Given the description of an element on the screen output the (x, y) to click on. 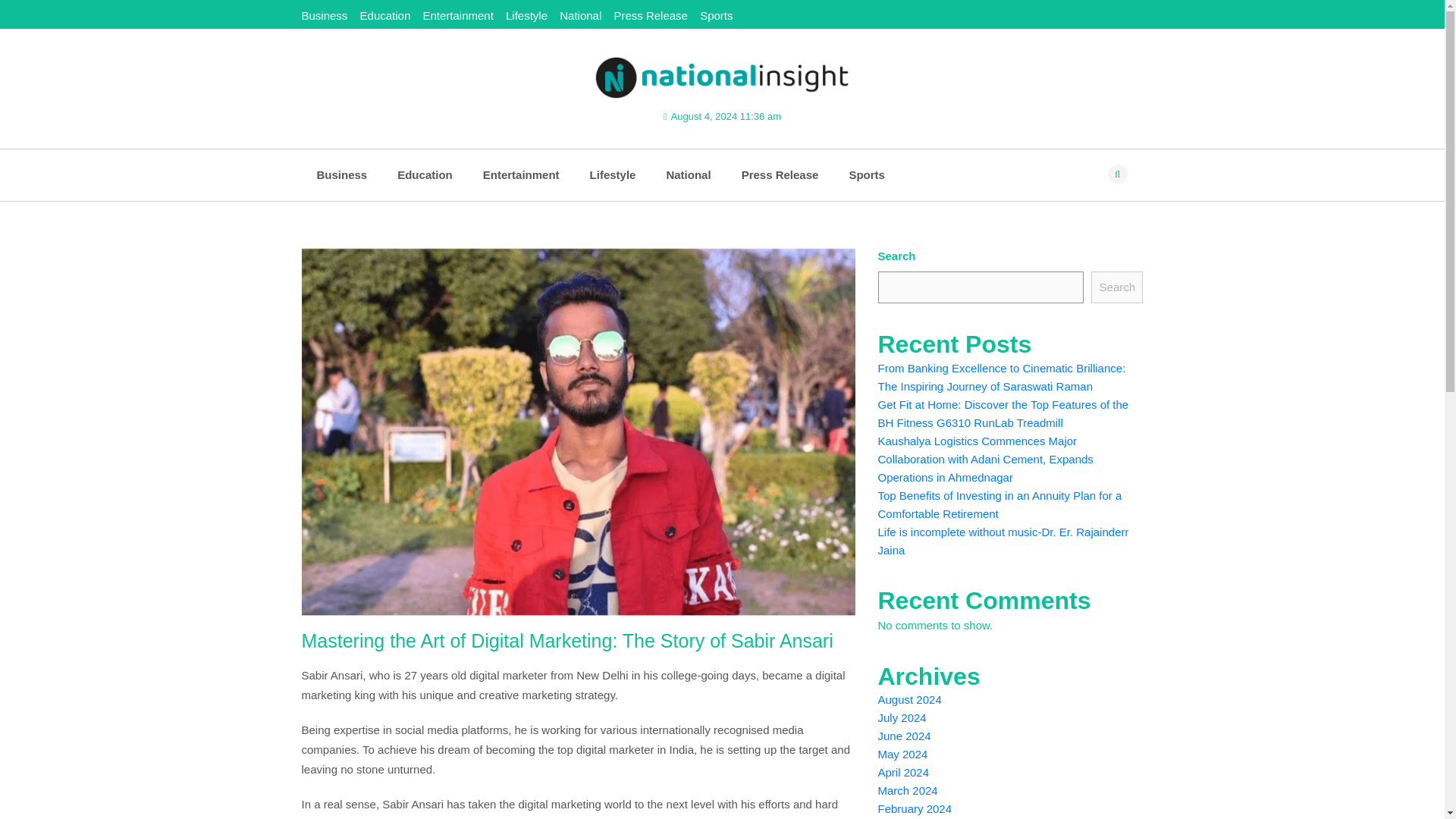
Lifestyle (612, 174)
Education (384, 15)
Business (324, 15)
Lifestyle (526, 15)
Sports (865, 174)
Search (1116, 287)
National (580, 15)
Sports (865, 174)
Business (341, 174)
Press Release (780, 174)
Sports (716, 15)
Entertainment (521, 174)
Education (424, 174)
